Given the description of an element on the screen output the (x, y) to click on. 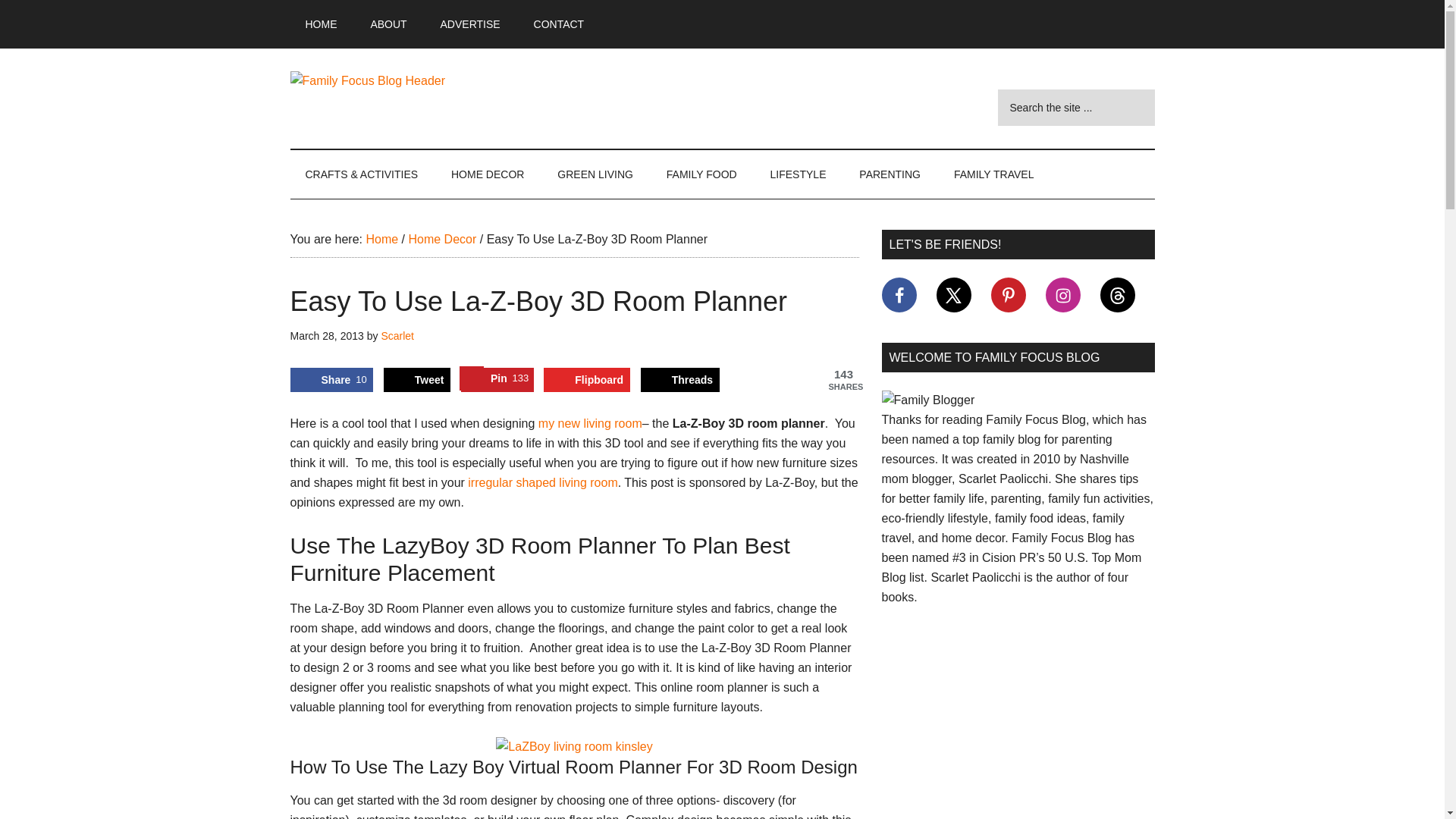
Family Travel (994, 174)
Share on X (417, 379)
HOME (320, 24)
ABOUT (388, 24)
Follow on Pinterest (1007, 294)
ADVERTISE (470, 24)
Share on Flipboard (586, 379)
CONTACT (497, 379)
Follow on Threads (558, 24)
PARENTING (1116, 294)
